Given the description of an element on the screen output the (x, y) to click on. 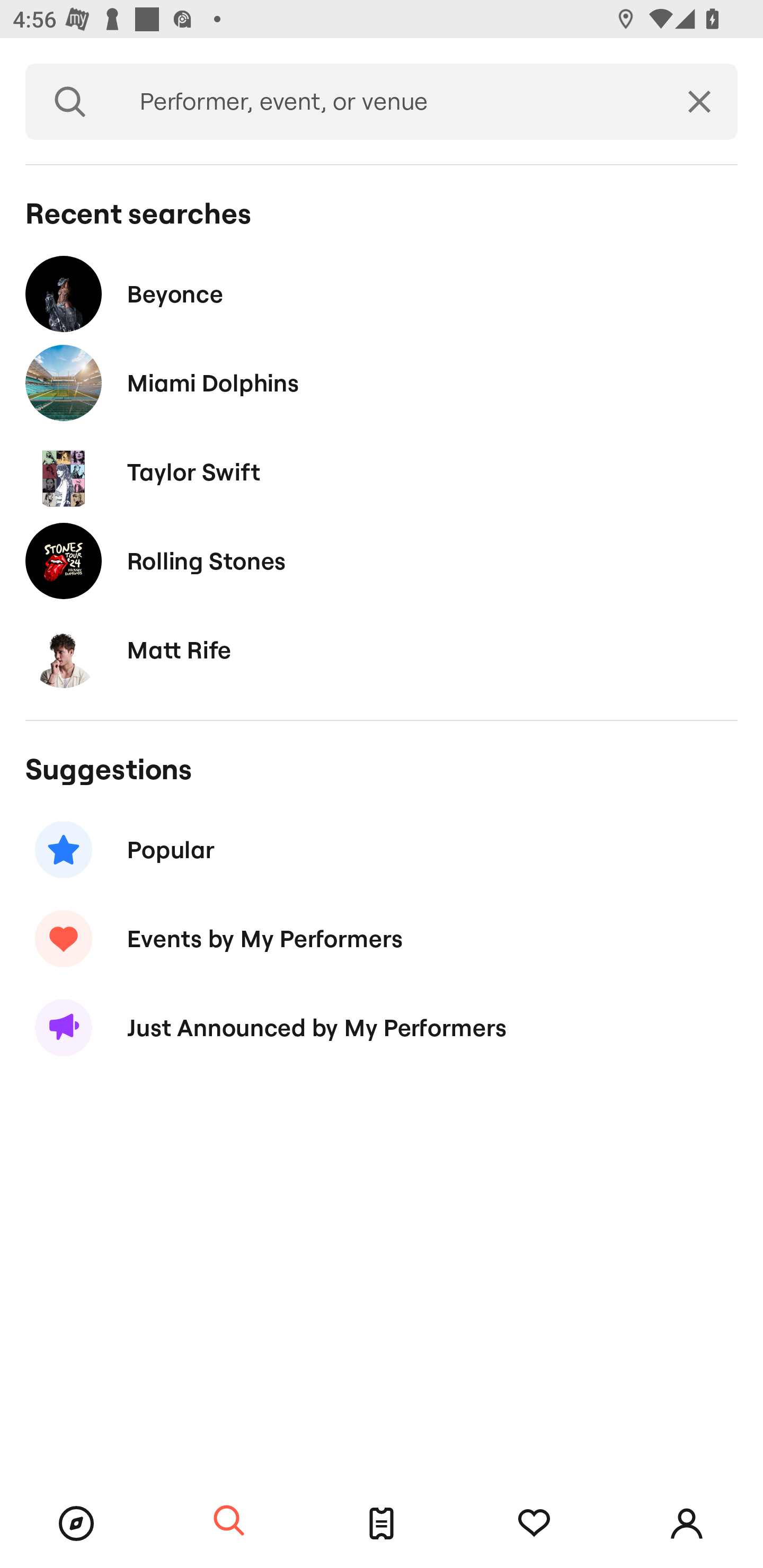
Search (69, 101)
Performer, event, or venue (387, 101)
Clear (699, 101)
Beyonce (381, 293)
Miami Dolphins (381, 383)
Taylor Swift (381, 471)
Rolling Stones (381, 560)
Matt Rife (381, 649)
Popular (381, 849)
Events by My Performers (381, 938)
Just Announced by My Performers (381, 1027)
Browse (76, 1523)
Search (228, 1521)
Tickets (381, 1523)
Tracking (533, 1523)
Account (686, 1523)
